Given the description of an element on the screen output the (x, y) to click on. 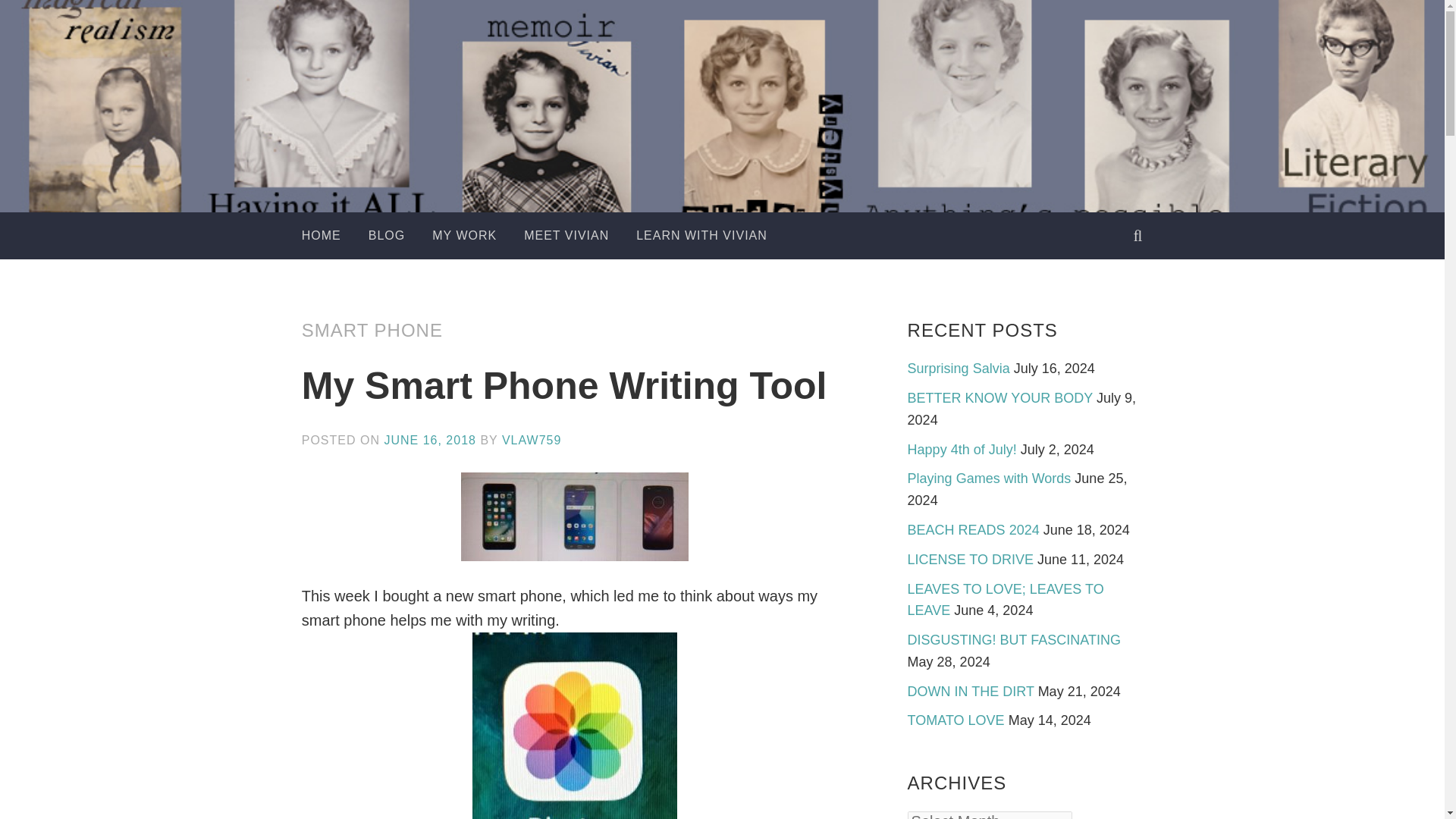
Vivian Lawry (783, 159)
JUNE 16, 2018 (430, 440)
MEET VIVIAN (566, 235)
LEARN WITH VIVIAN (701, 235)
VLAW759 (531, 440)
MY WORK (464, 235)
My Smart Phone Writing Tool (564, 385)
